Given the description of an element on the screen output the (x, y) to click on. 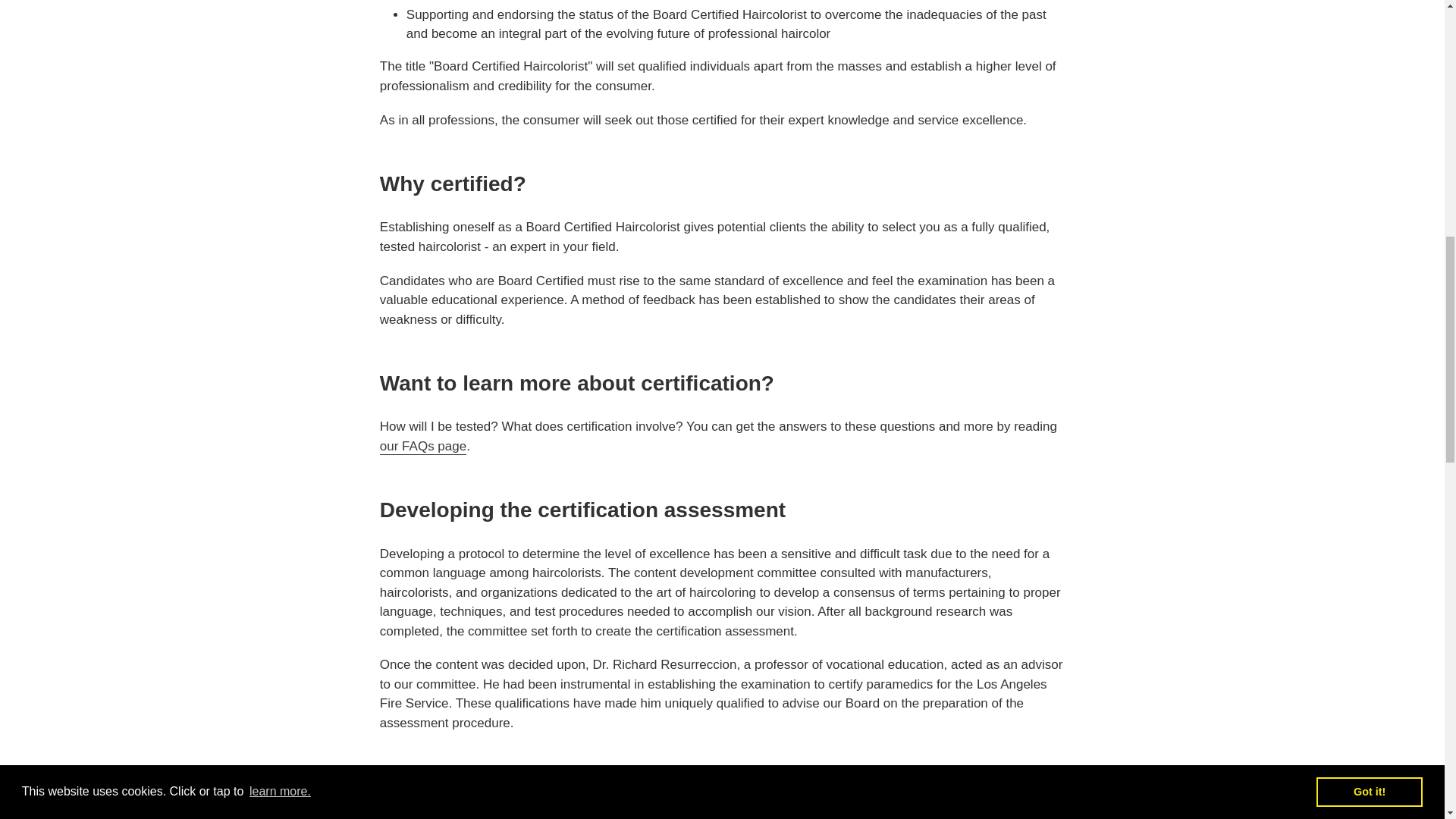
Board of Certified Haircolorists FAQs (422, 446)
